Given the description of an element on the screen output the (x, y) to click on. 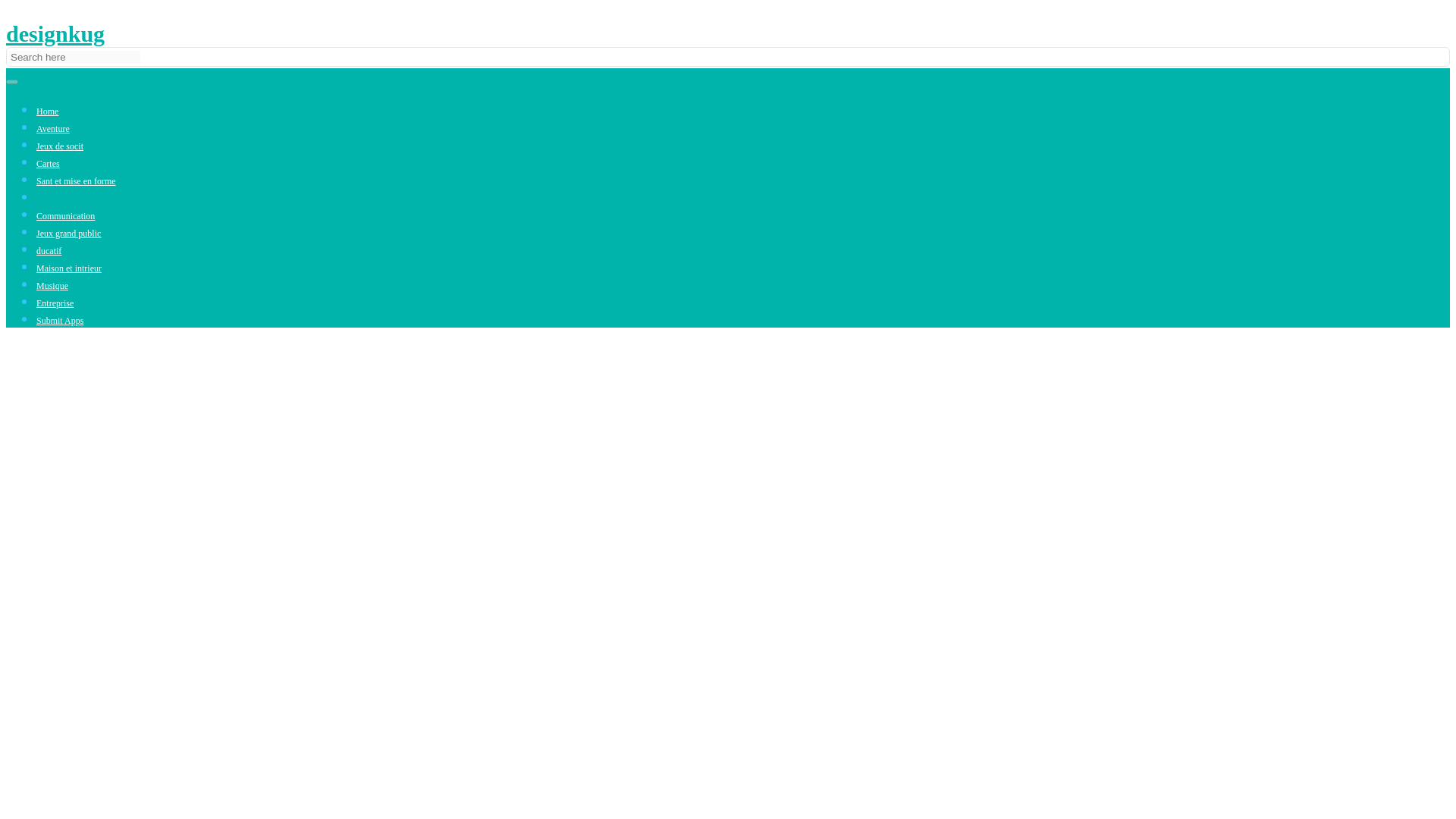
Jeux de socit (59, 145)
Aventure (52, 128)
designkug (54, 33)
Sant et mise en forme (76, 181)
Submit Apps (59, 320)
ducatif (48, 250)
Jeux grand public (68, 233)
Musique (52, 285)
Home (47, 111)
Maison et intrieur (68, 267)
